Given the description of an element on the screen output the (x, y) to click on. 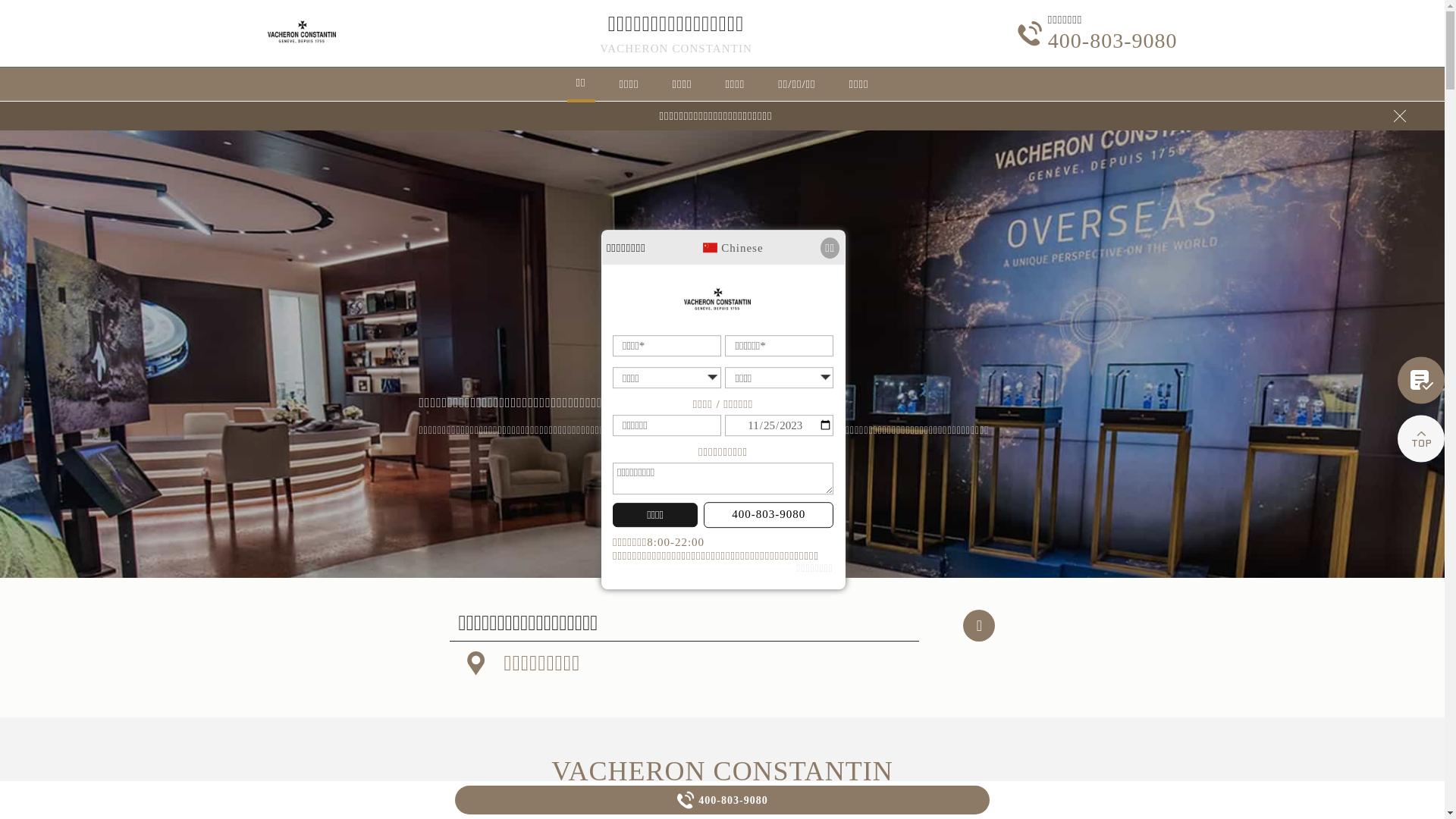
400-803-9080 Element type: text (768, 514)
